Given the description of an element on the screen output the (x, y) to click on. 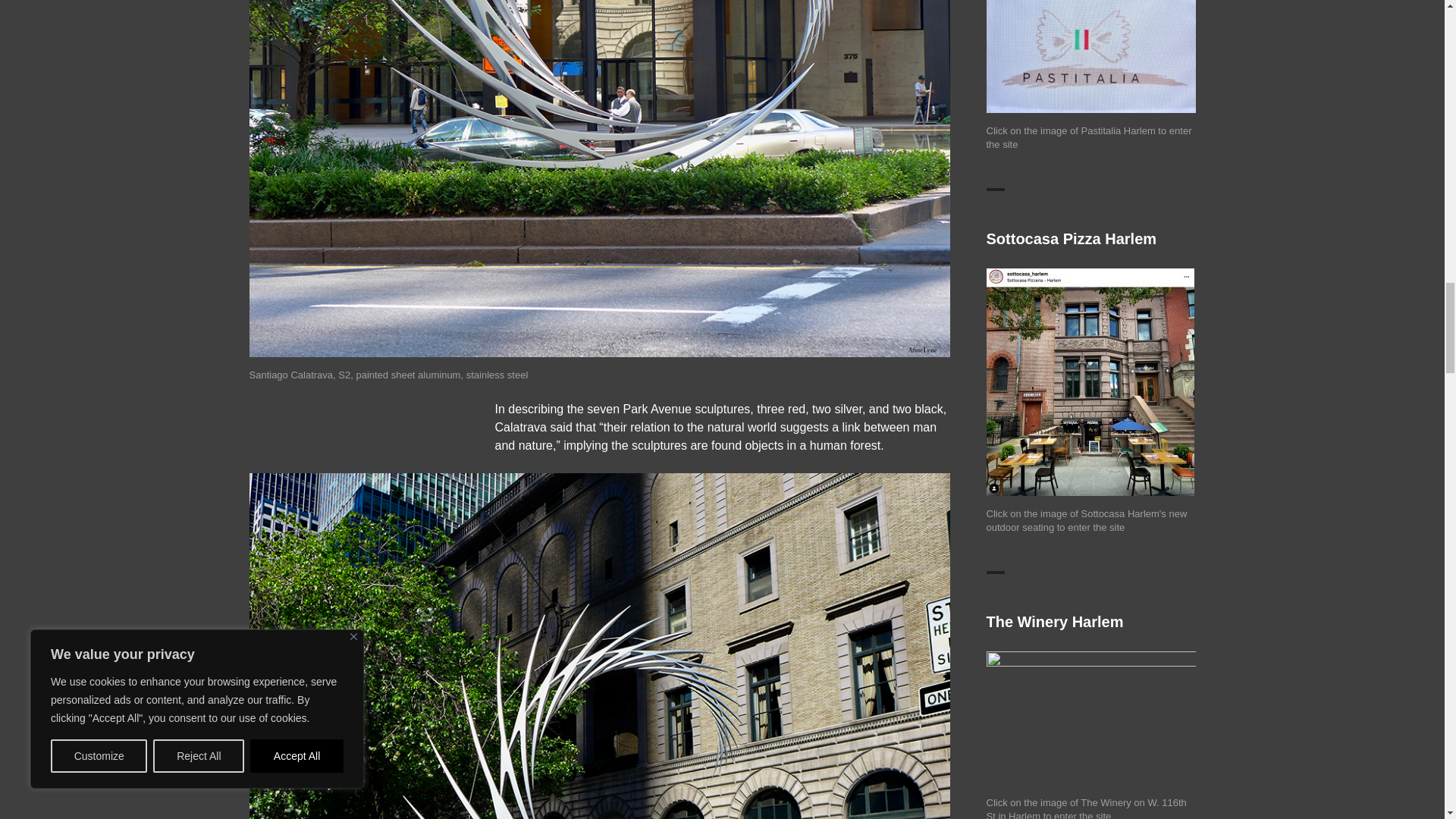
The Winery Harlem (1090, 717)
Pastitalia Harlem (1090, 56)
